Given the description of an element on the screen output the (x, y) to click on. 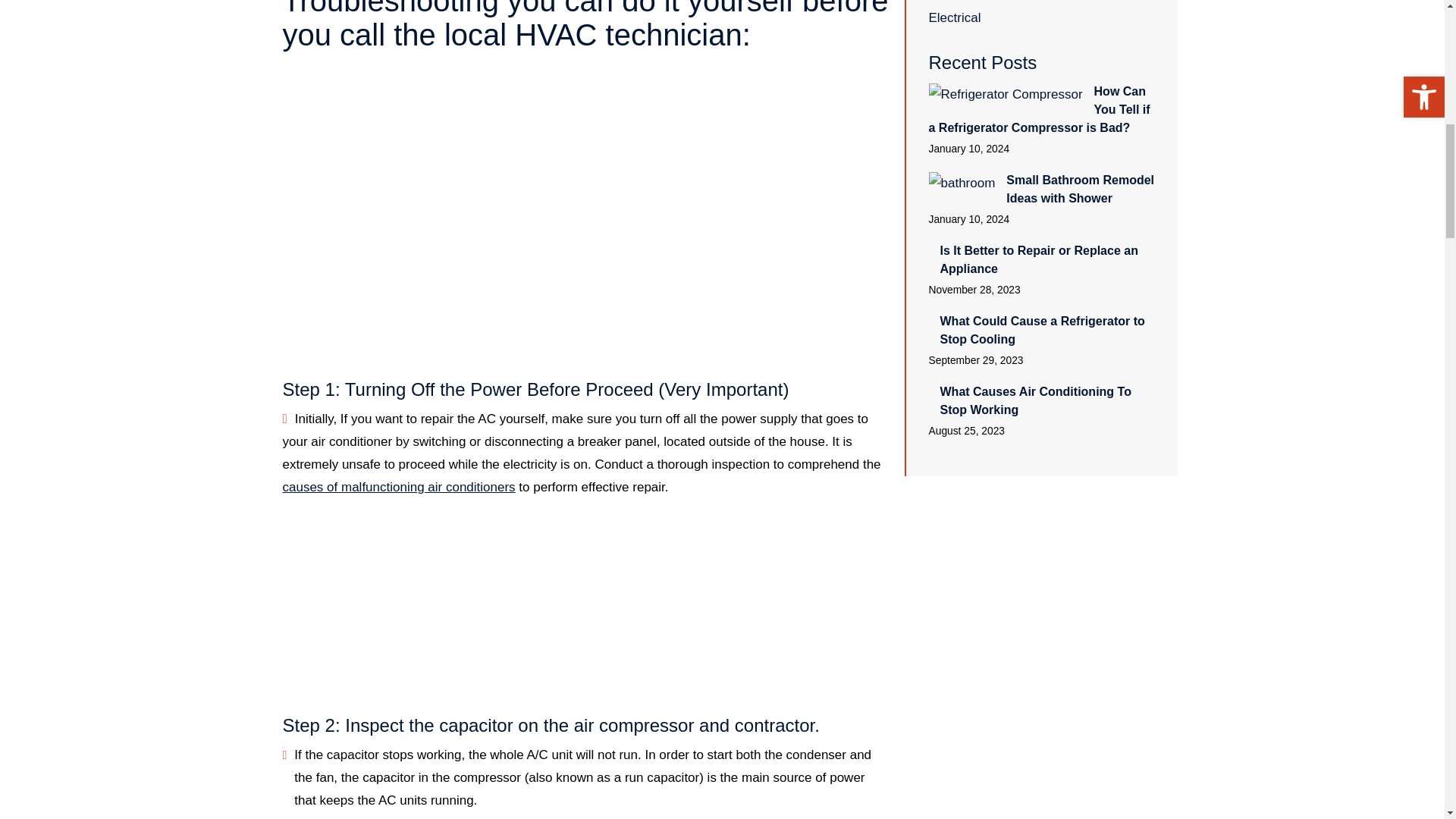
Hvac-Tech-checking-a-run-capacitor-on-a-condenser (585, 607)
